Given the description of an element on the screen output the (x, y) to click on. 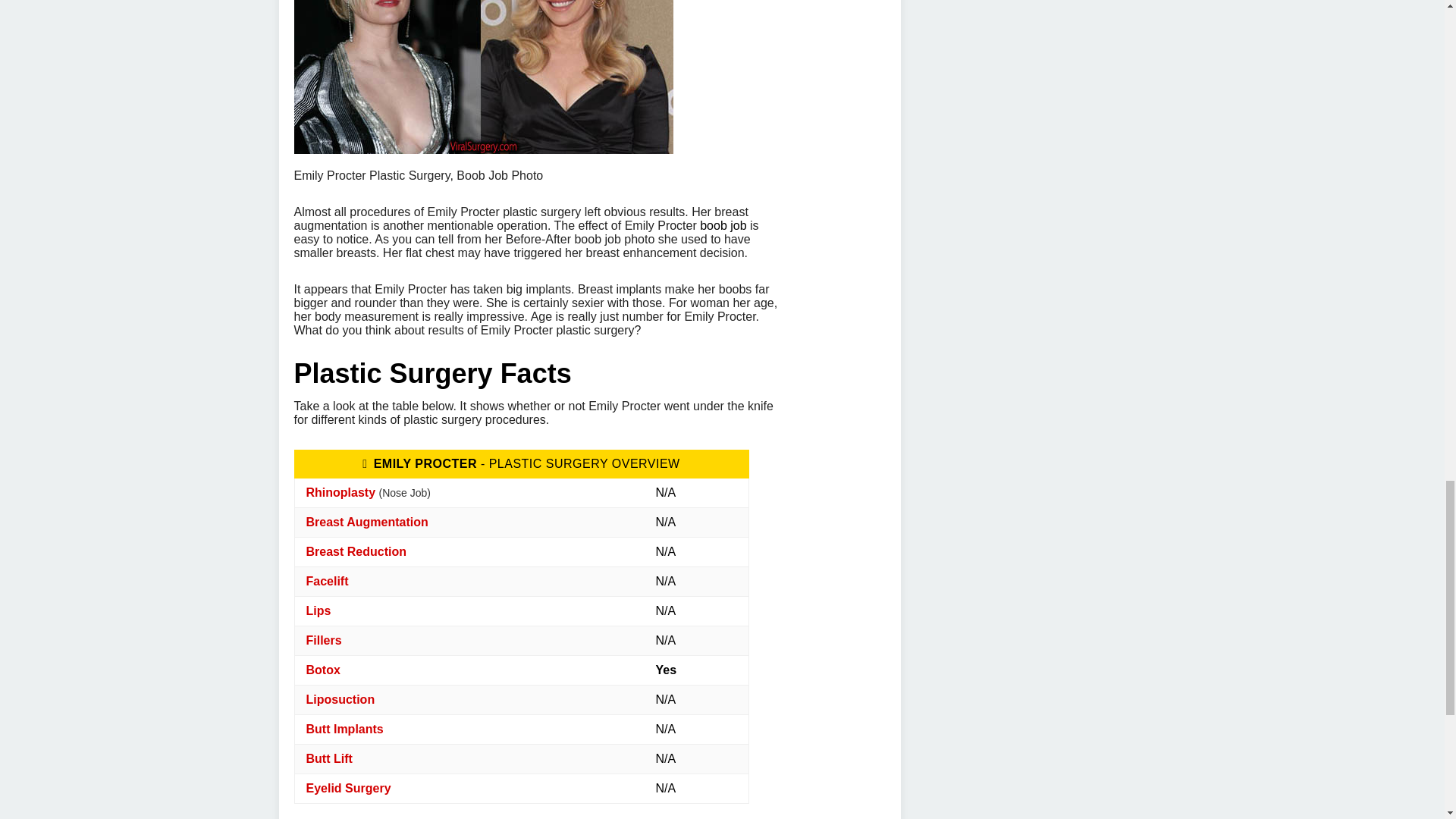
Butt Lift (328, 758)
boob job (722, 225)
Liposuction (340, 698)
Rhinoplasty (340, 492)
Eyelid Surgery (348, 788)
Lips (318, 610)
Facelift (327, 581)
Breast Reduction (355, 551)
Fillers (323, 640)
Botox (322, 669)
